Given the description of an element on the screen output the (x, y) to click on. 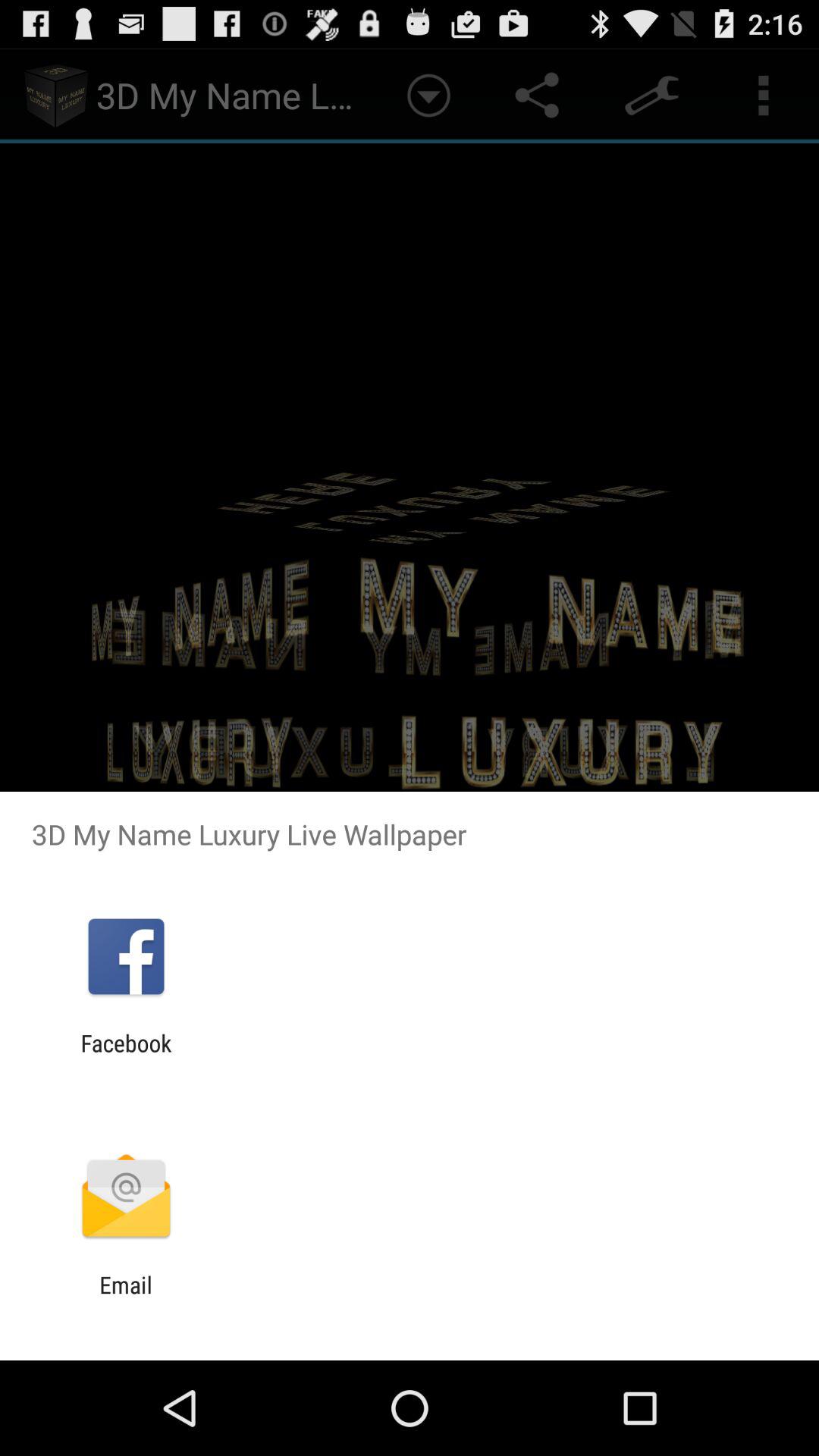
scroll until email item (125, 1298)
